Given the description of an element on the screen output the (x, y) to click on. 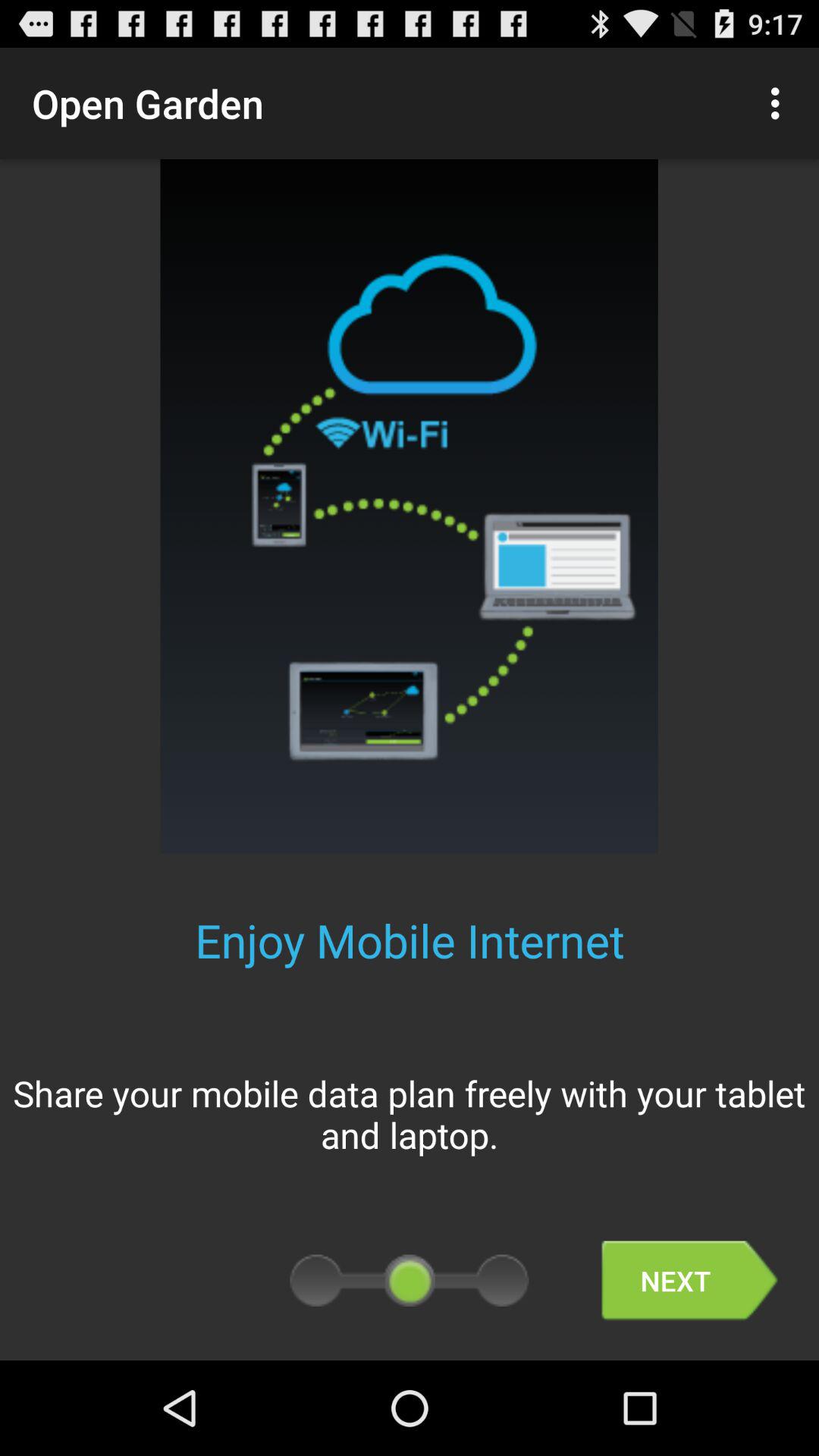
press the next item (689, 1280)
